Given the description of an element on the screen output the (x, y) to click on. 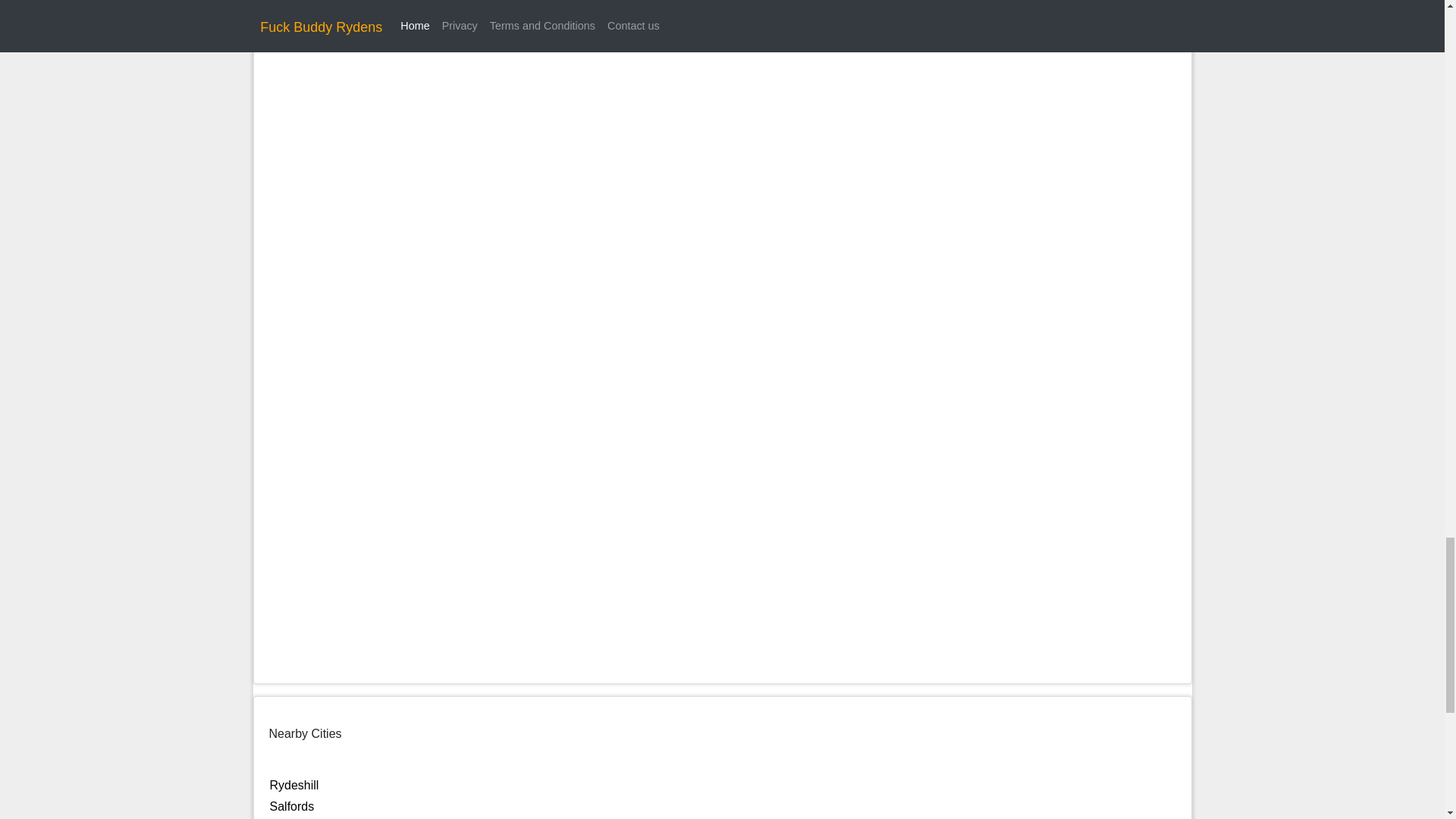
Rydeshill (293, 784)
Salfords (291, 806)
